Given the description of an element on the screen output the (x, y) to click on. 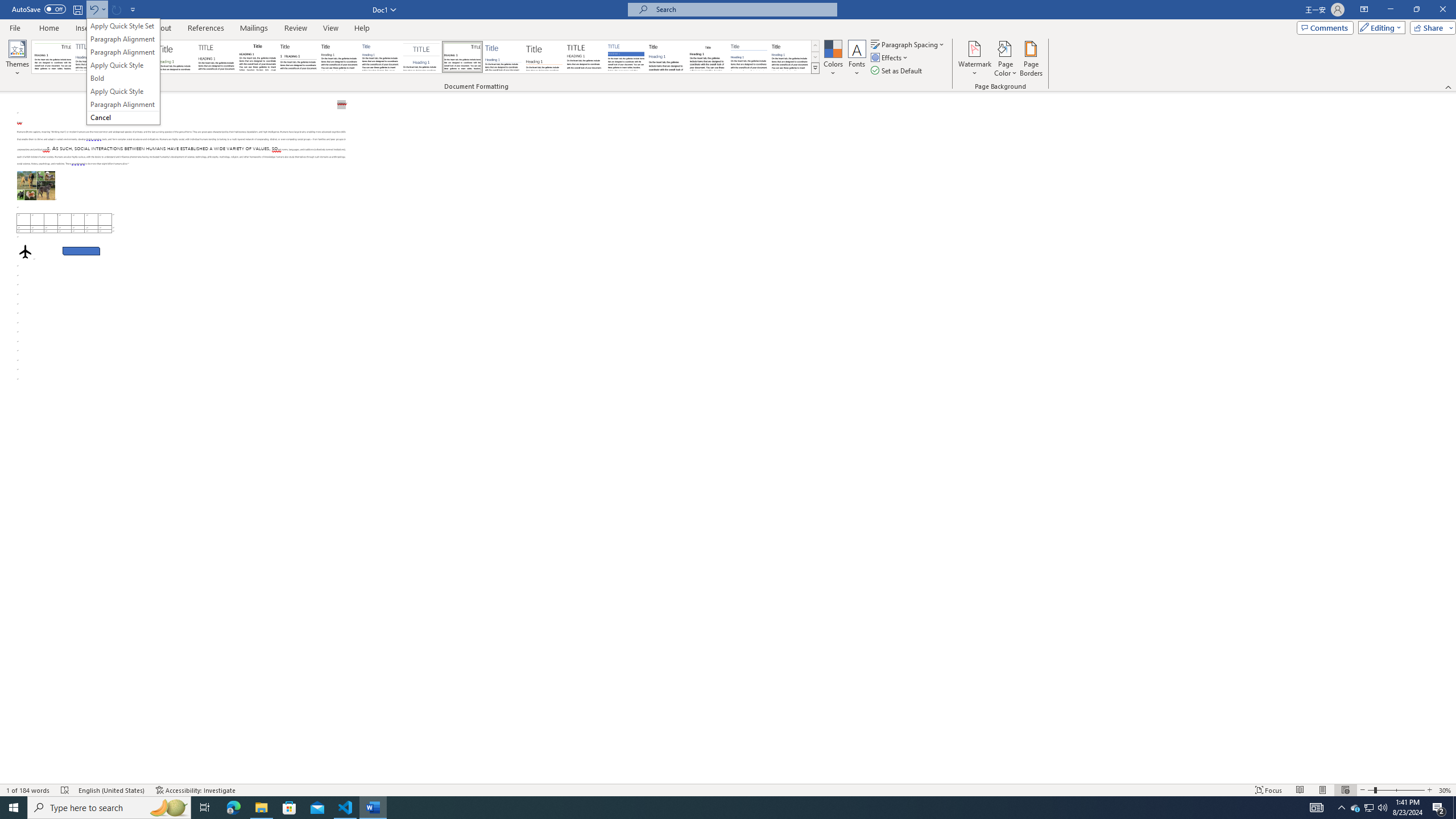
&Undo Apply Quick Style Set (122, 71)
Zoom 30% (1445, 790)
Lines (Simple) (503, 56)
Lines (Stylish) (544, 56)
Document (52, 56)
Page Color (1005, 58)
Themes (17, 58)
